Given the description of an element on the screen output the (x, y) to click on. 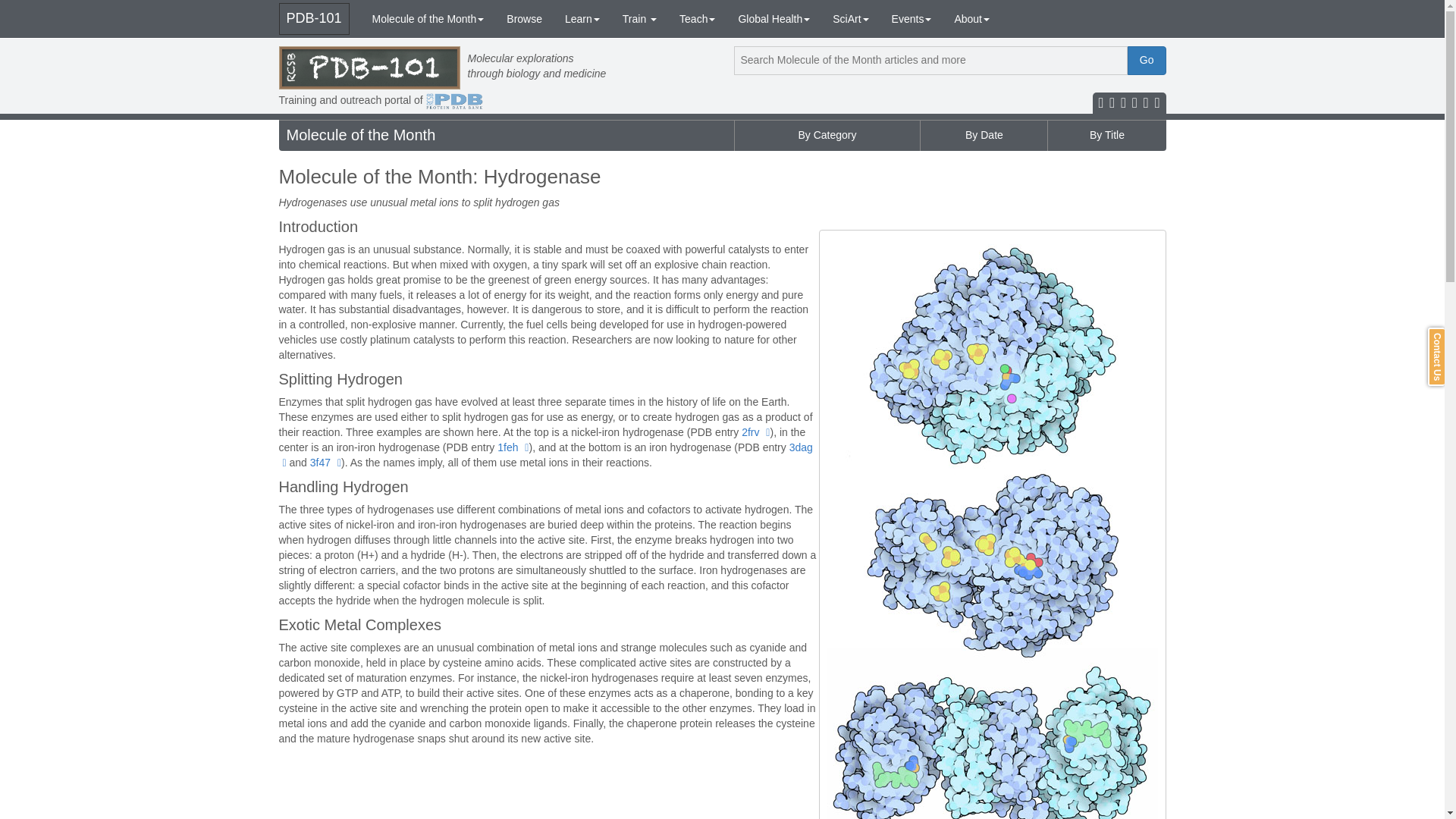
Train (639, 18)
Global Health (773, 18)
Teach (697, 18)
Molecule of the Month (428, 18)
Browse (524, 18)
PDB-101 (314, 19)
Learn (582, 18)
